Given the description of an element on the screen output the (x, y) to click on. 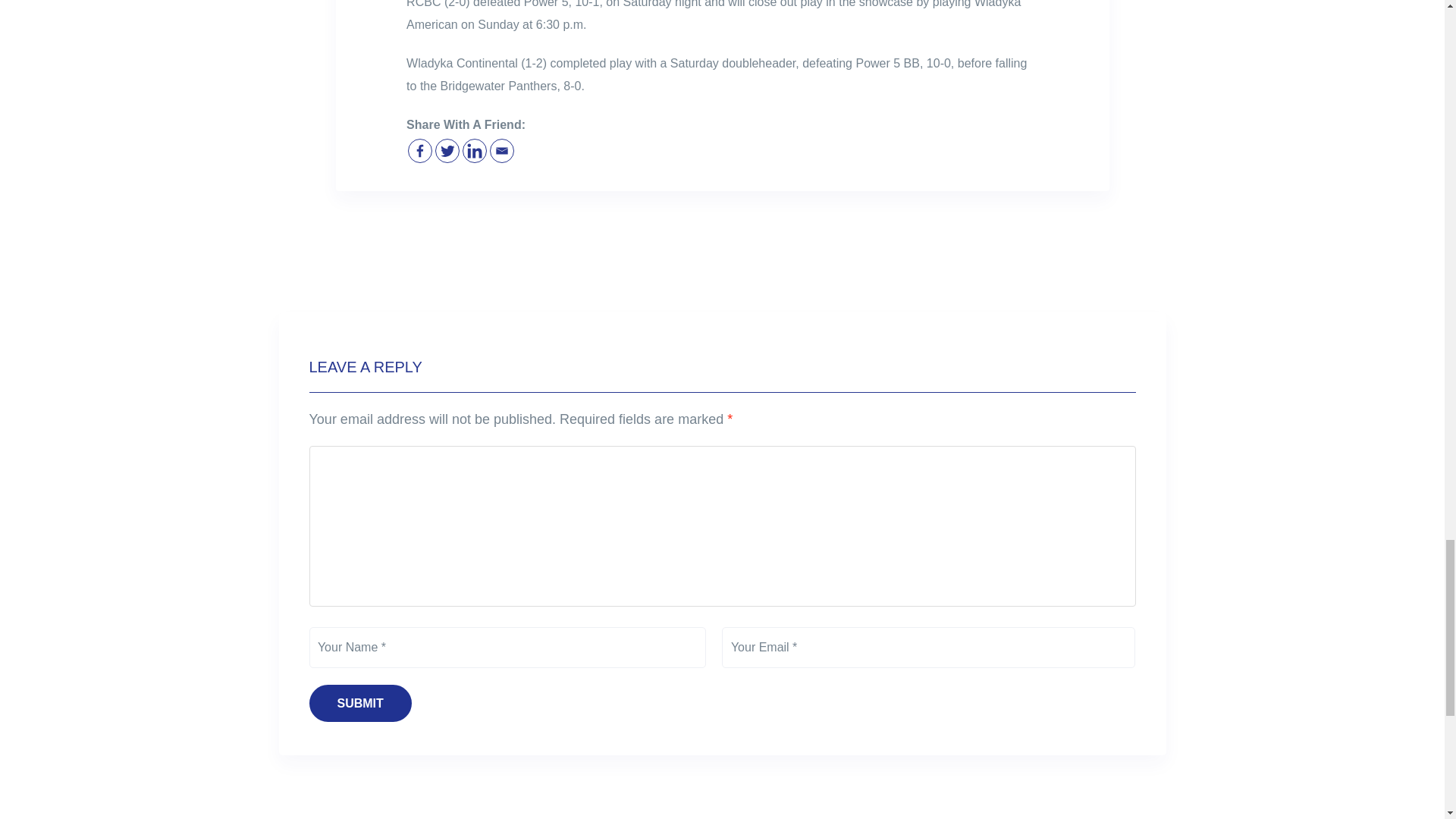
Facebook (419, 150)
Submit (360, 702)
Linkedin (474, 150)
Email (501, 150)
Twitter (447, 150)
